Given the description of an element on the screen output the (x, y) to click on. 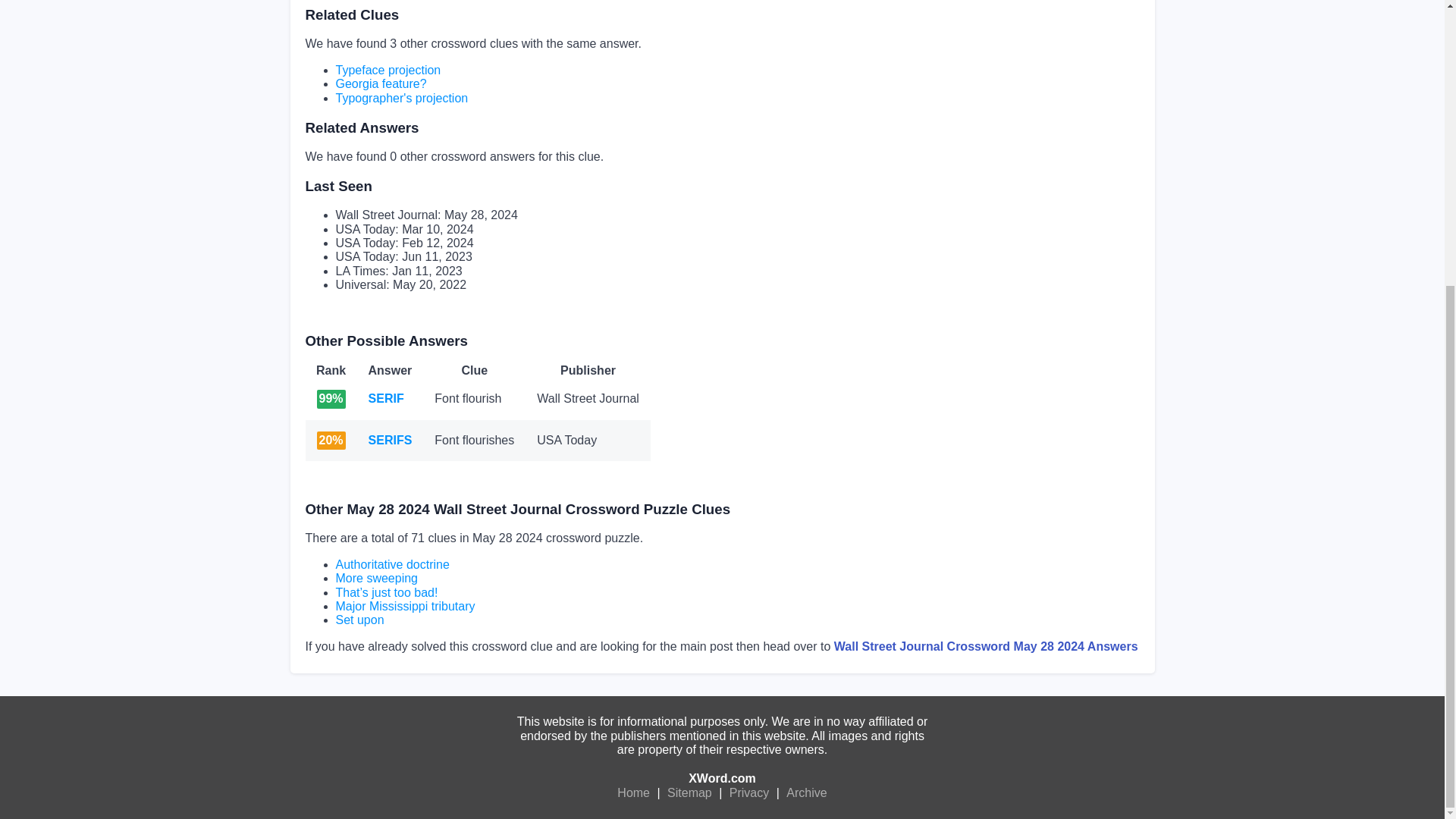
Set upon (359, 619)
SERIFS (390, 440)
Privacy (749, 792)
Authoritative doctrine (391, 563)
Sitemap (689, 792)
Typeface projection (387, 69)
Typographer's projection (400, 97)
SERIF (386, 398)
More sweeping (375, 577)
Home (632, 792)
Wall Street Journal Crossword May 28 2024 Answers (986, 645)
Georgia feature? (380, 83)
Major Mississippi tributary (404, 605)
Archive (806, 792)
XWord.com (721, 778)
